Given the description of an element on the screen output the (x, y) to click on. 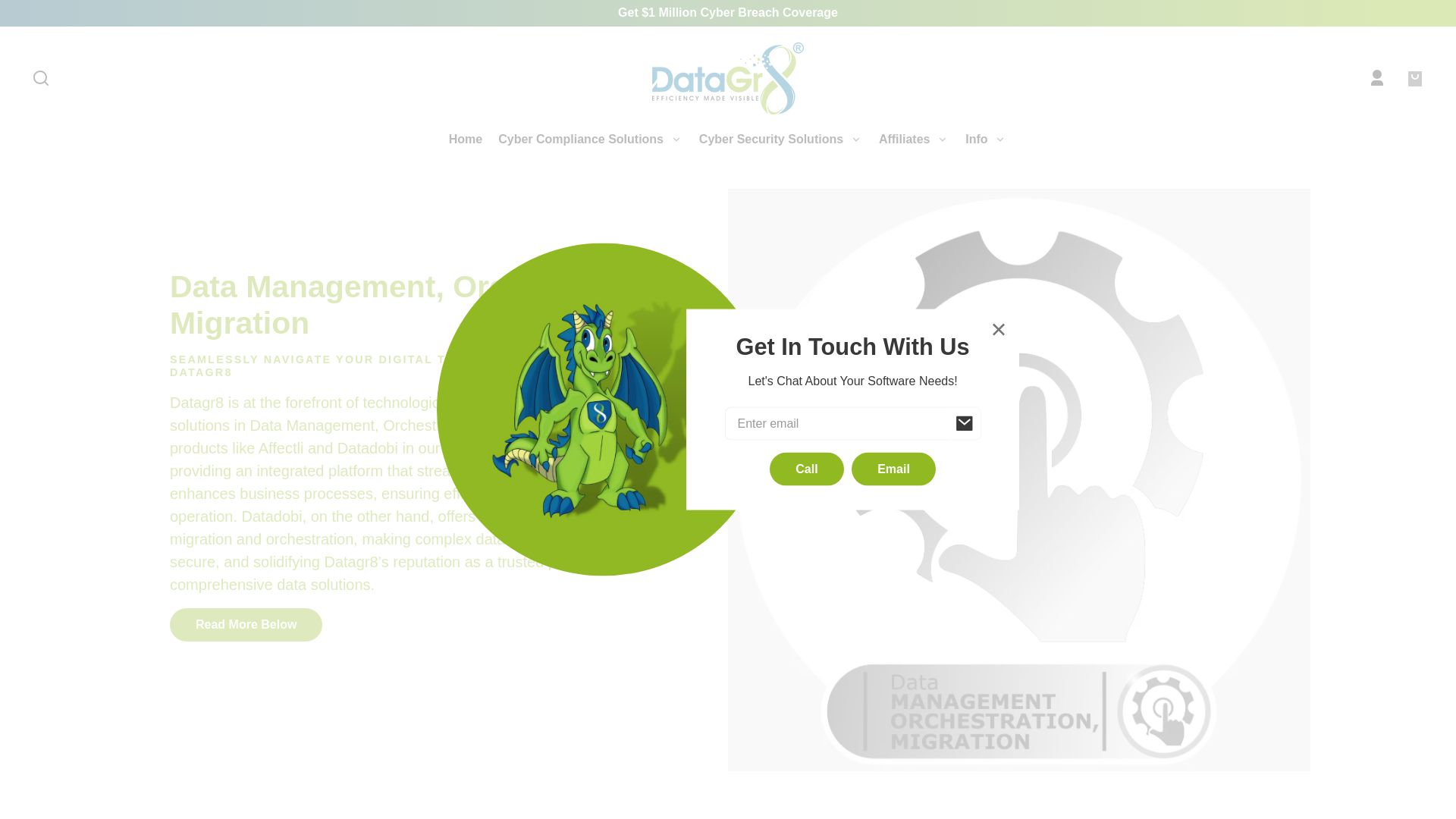
Skip to content (25, 16)
Log in (1376, 78)
Home (465, 139)
Read More Below (245, 624)
Translation missing: en.cart.name (1414, 78)
